Given the description of an element on the screen output the (x, y) to click on. 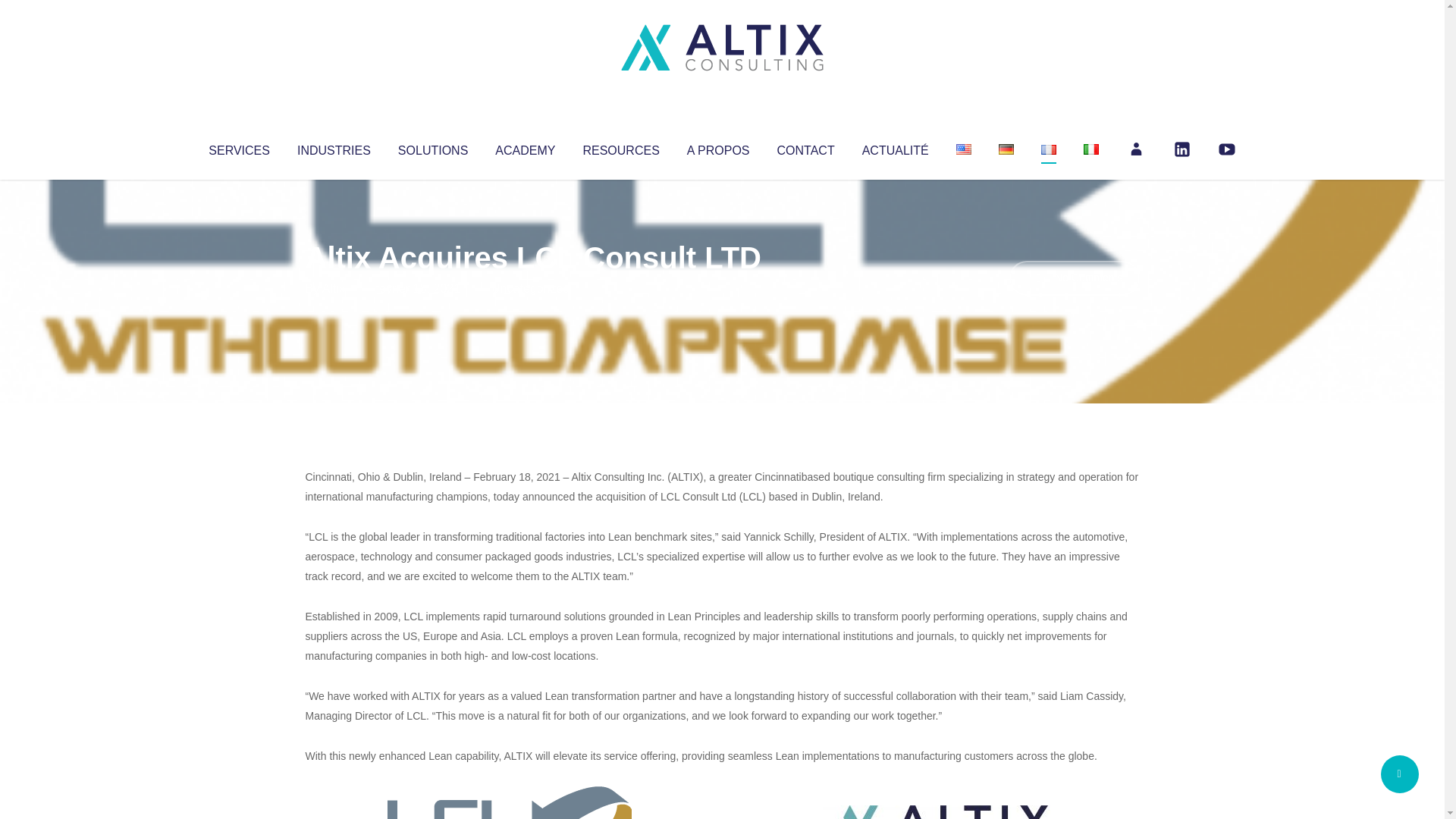
ACADEMY (524, 146)
Articles par Altix (333, 287)
INDUSTRIES (334, 146)
SOLUTIONS (432, 146)
Altix (333, 287)
SERVICES (238, 146)
A PROPOS (718, 146)
Uncategorized (530, 287)
No Comments (1073, 278)
RESOURCES (620, 146)
